Given the description of an element on the screen output the (x, y) to click on. 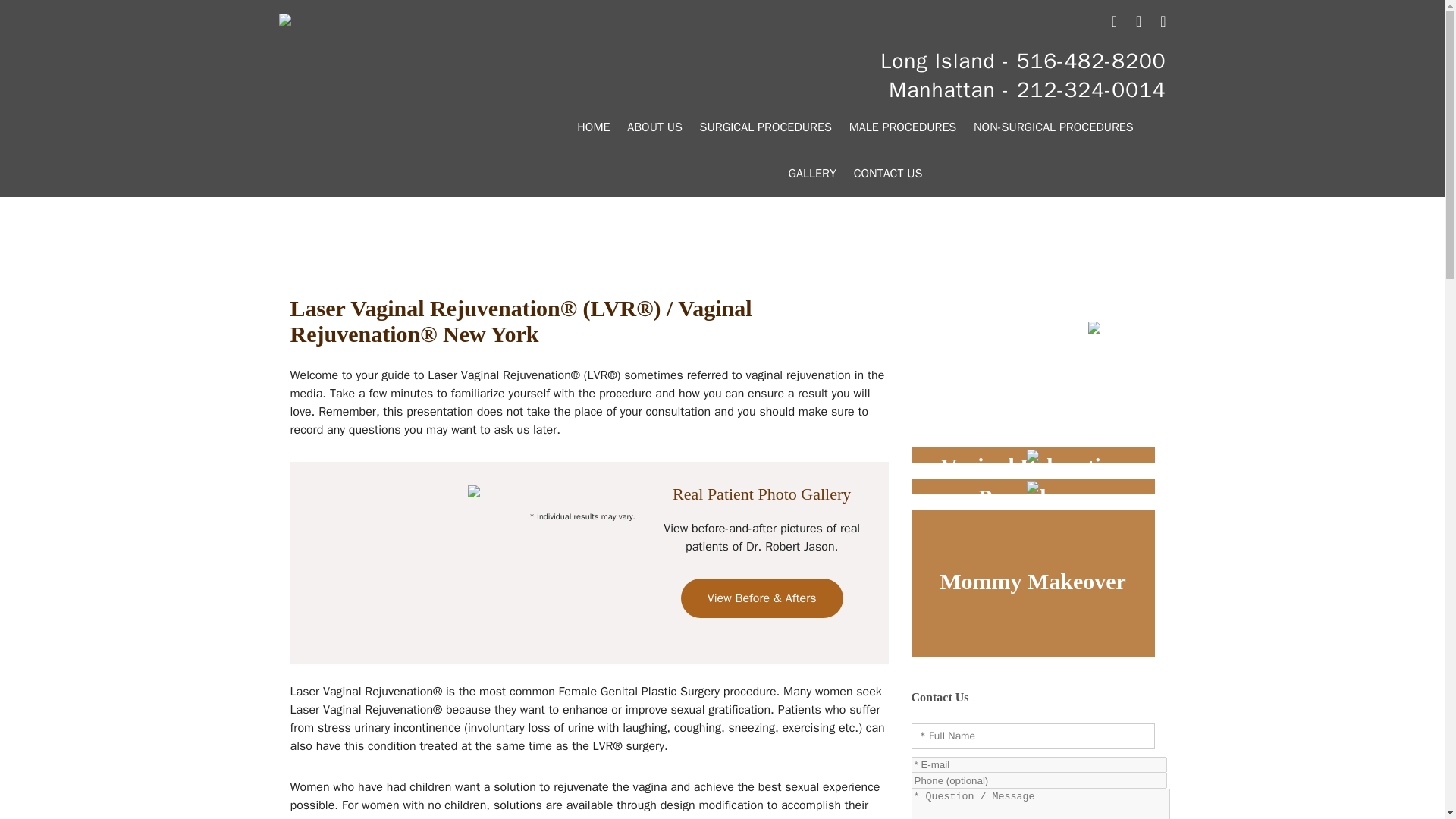
Manhattan - 212-324-0014 (1027, 89)
SURGICAL PROCEDURES (765, 127)
516-482-8200 (1091, 60)
ABOUT US (654, 127)
HOME (592, 127)
